Given the description of an element on the screen output the (x, y) to click on. 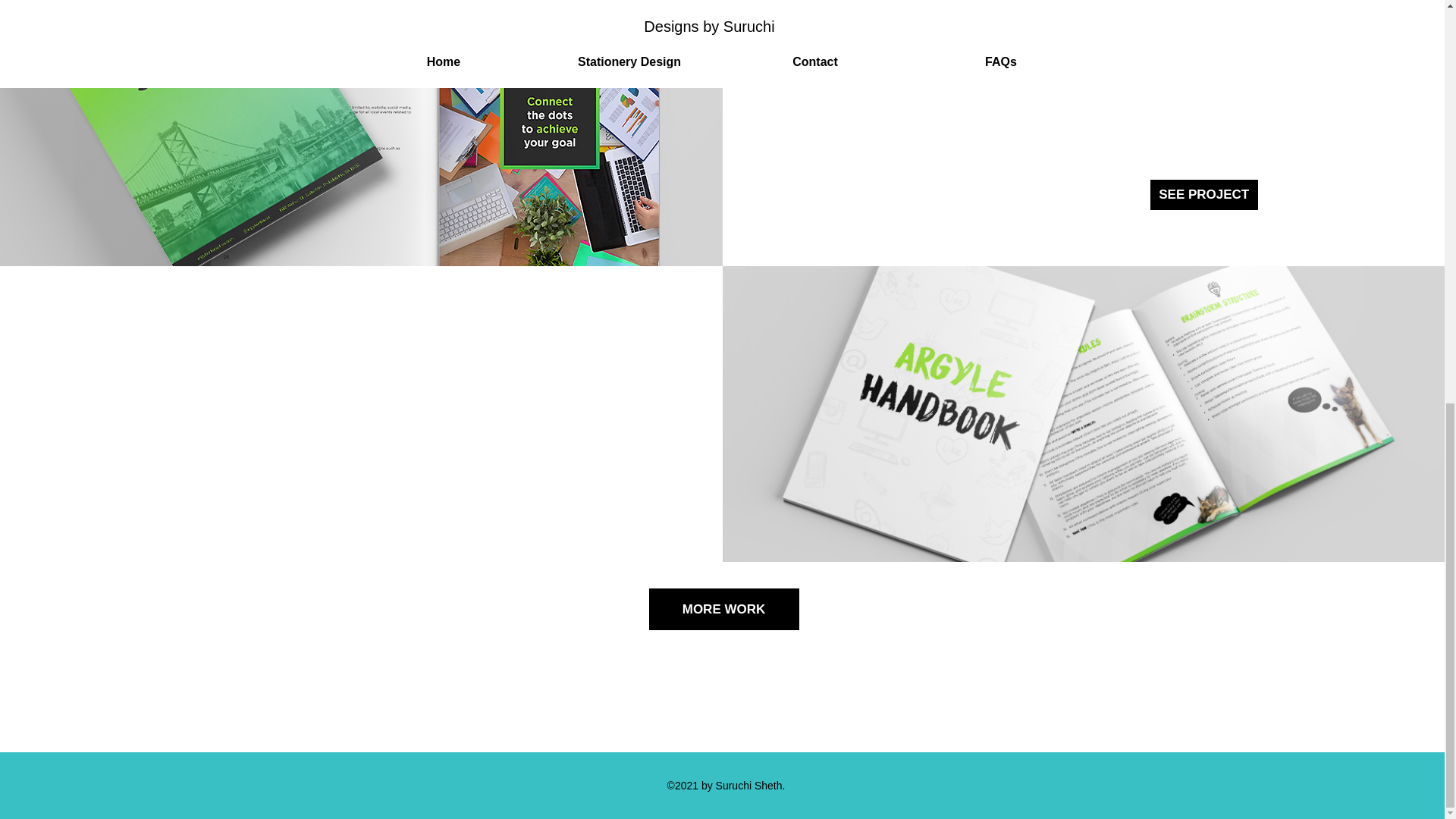
SEE PROJECT (1203, 194)
MORE WORK (724, 608)
